Given the description of an element on the screen output the (x, y) to click on. 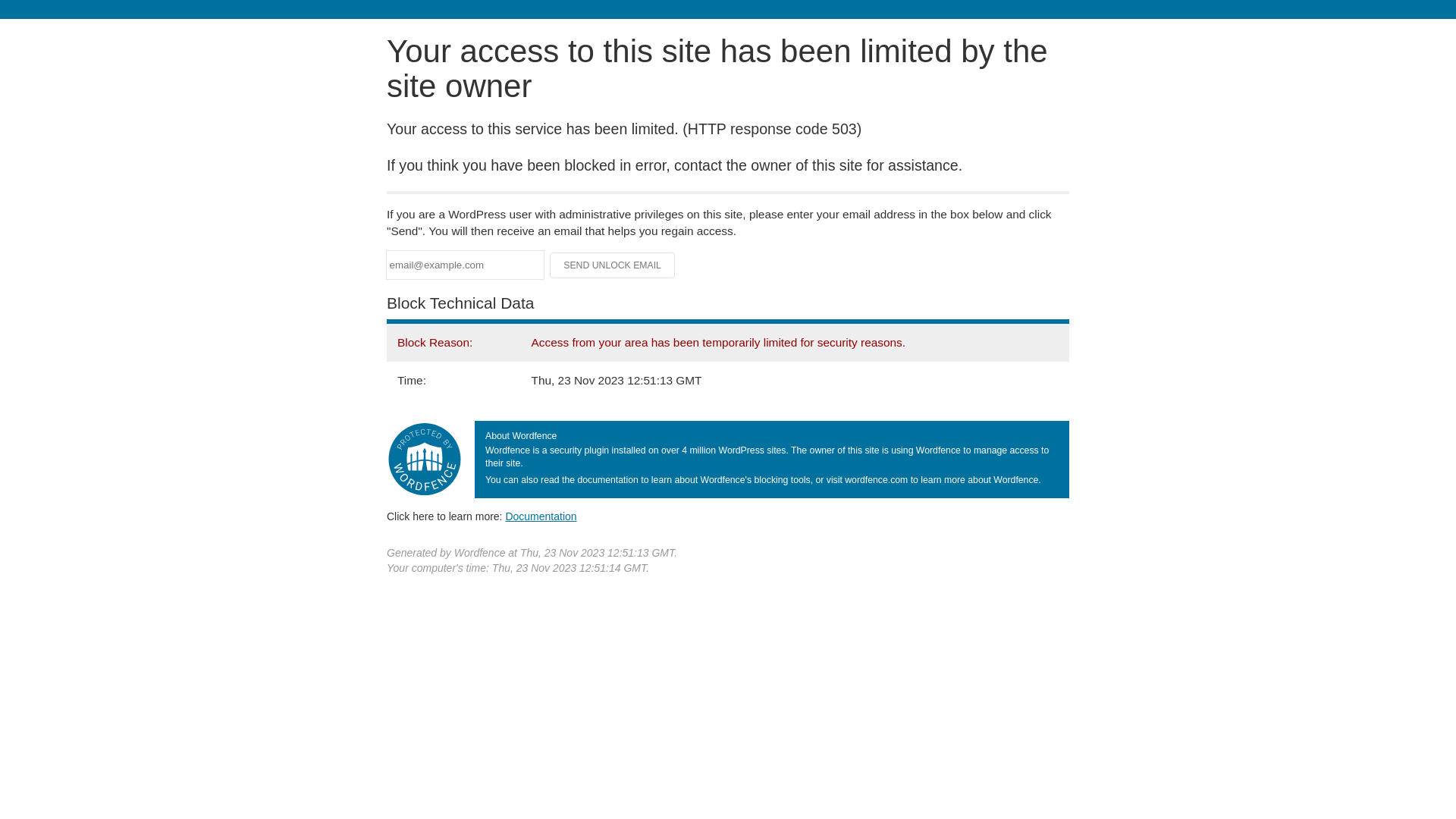
Send Unlock Email Element type: text (612, 265)
Documentation Element type: text (540, 516)
